Given the description of an element on the screen output the (x, y) to click on. 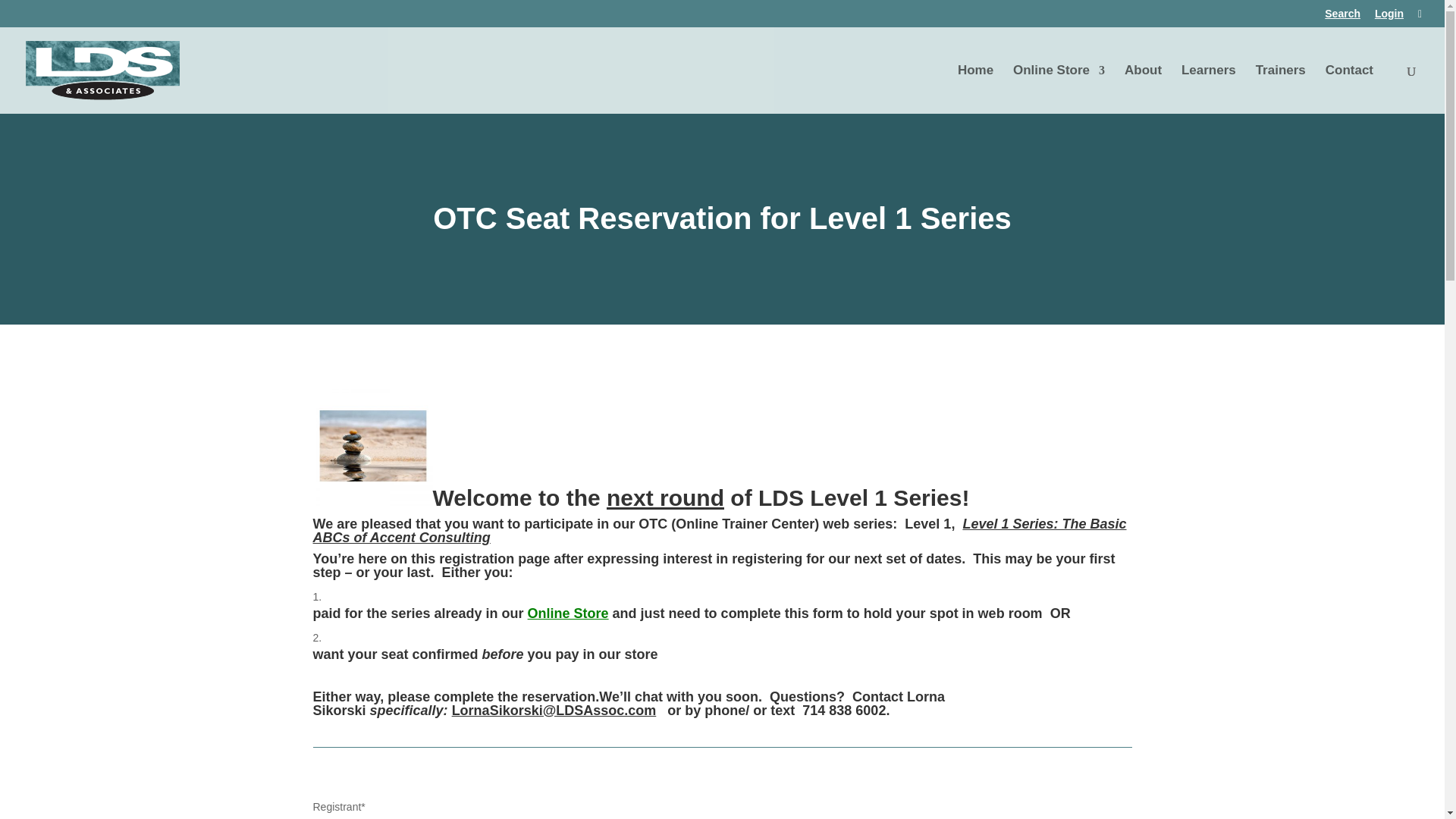
Search (1341, 16)
Login (1388, 16)
Trainers (1280, 89)
Online Store (1059, 89)
Learners (1208, 89)
